Given the description of an element on the screen output the (x, y) to click on. 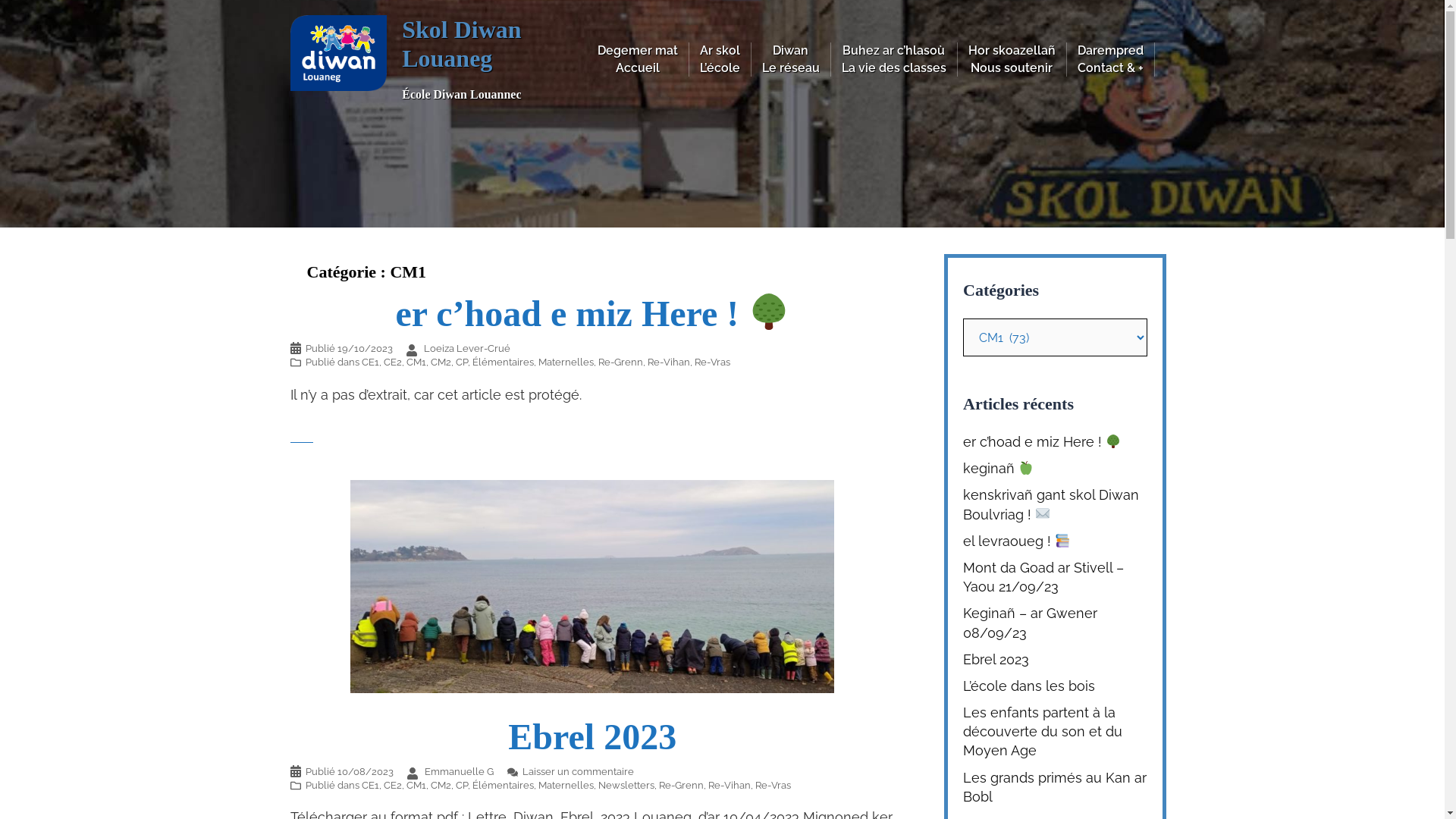
Re-Grenn Element type: text (680, 784)
Aller au contenu Element type: text (0, 0)
Laisser un commentaire Element type: text (577, 771)
CE1 Element type: text (369, 361)
Ebrel 2023 Element type: hover (592, 585)
CM1 Element type: text (416, 361)
Darempred
Contact & + Element type: text (1109, 59)
CE2 Element type: text (392, 784)
CE1 Element type: text (369, 784)
CE2 Element type: text (392, 361)
CM1 Element type: text (416, 784)
Maternelles Element type: text (565, 784)
Emmanuelle G Element type: text (458, 771)
Re-Vras Element type: text (712, 361)
Re-Vras Element type: text (772, 784)
10/08/2023 Element type: text (364, 771)
Re-Vihan Element type: text (668, 361)
19/10/2023 Element type: text (364, 348)
Skol Diwan Louaneg Element type: text (460, 43)
CP Element type: text (461, 361)
CP Element type: text (461, 784)
CM2 Element type: text (440, 361)
CM2 Element type: text (440, 784)
Re-Grenn Element type: text (619, 361)
Newsletters Element type: text (625, 784)
el levraoueg ! Element type: text (1016, 541)
Ebrel 2023 Element type: text (996, 659)
Ebrel 2023 Element type: text (592, 736)
Degemer mat
Accueil Element type: text (637, 59)
Maternelles Element type: text (565, 361)
Re-Vihan Element type: text (729, 784)
